Given the description of an element on the screen output the (x, y) to click on. 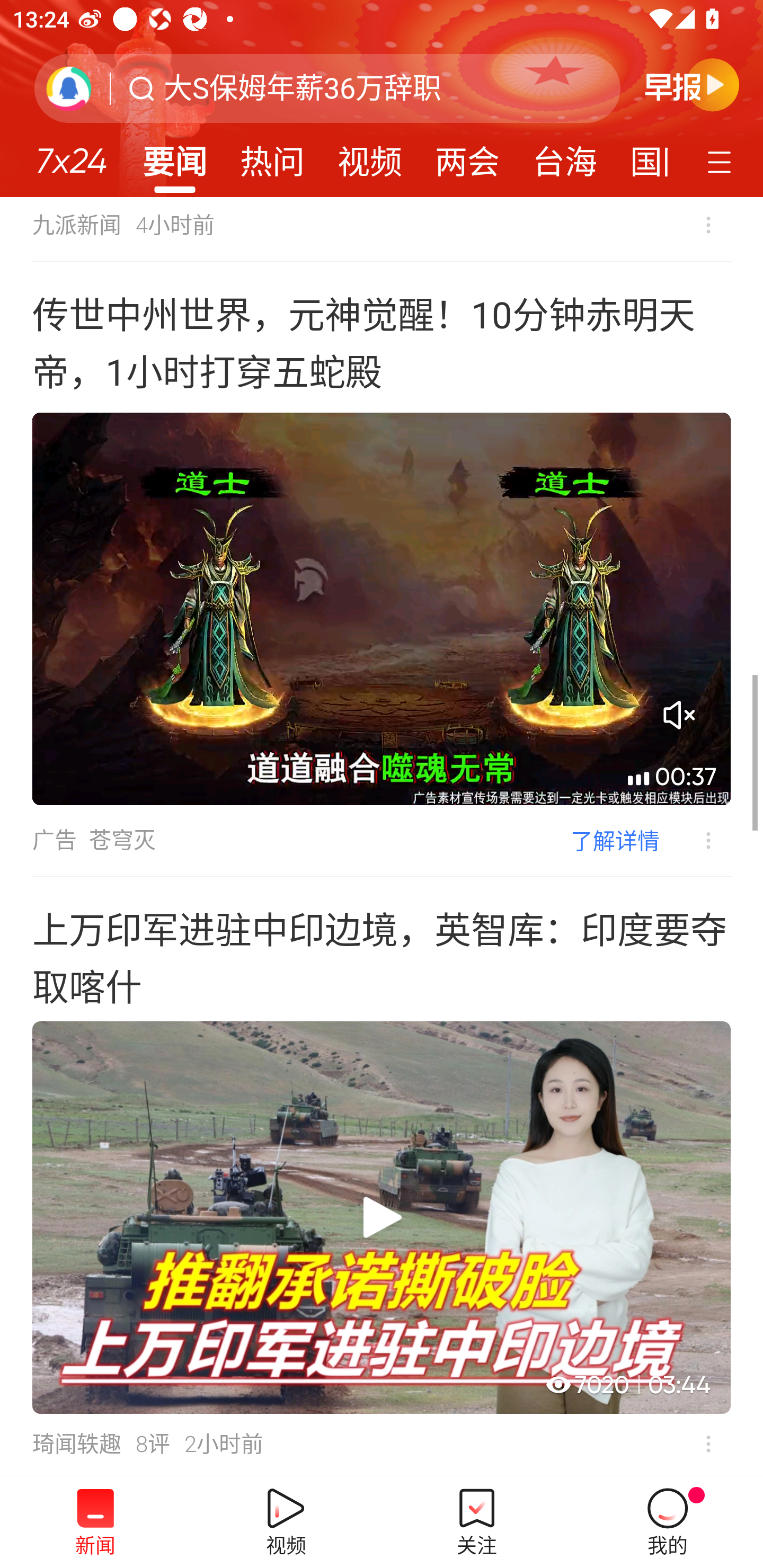
早晚报 (691, 84)
刷新 (68, 88)
大S保姆年薪36万辞职 (302, 88)
7x24 (70, 154)
要闻 (174, 155)
热问 (272, 155)
视频 (369, 155)
两会 (466, 155)
台海 (564, 155)
 定制频道 (721, 160)
 不感兴趣 (707, 224)
00:38 音量开关 (381, 608)
音量开关 (678, 714)
 不感兴趣 (694, 840)
了解详情 (614, 840)
广告 (54, 839)
苍穹灭 (122, 839)
 不感兴趣 (707, 1444)
